Given the description of an element on the screen output the (x, y) to click on. 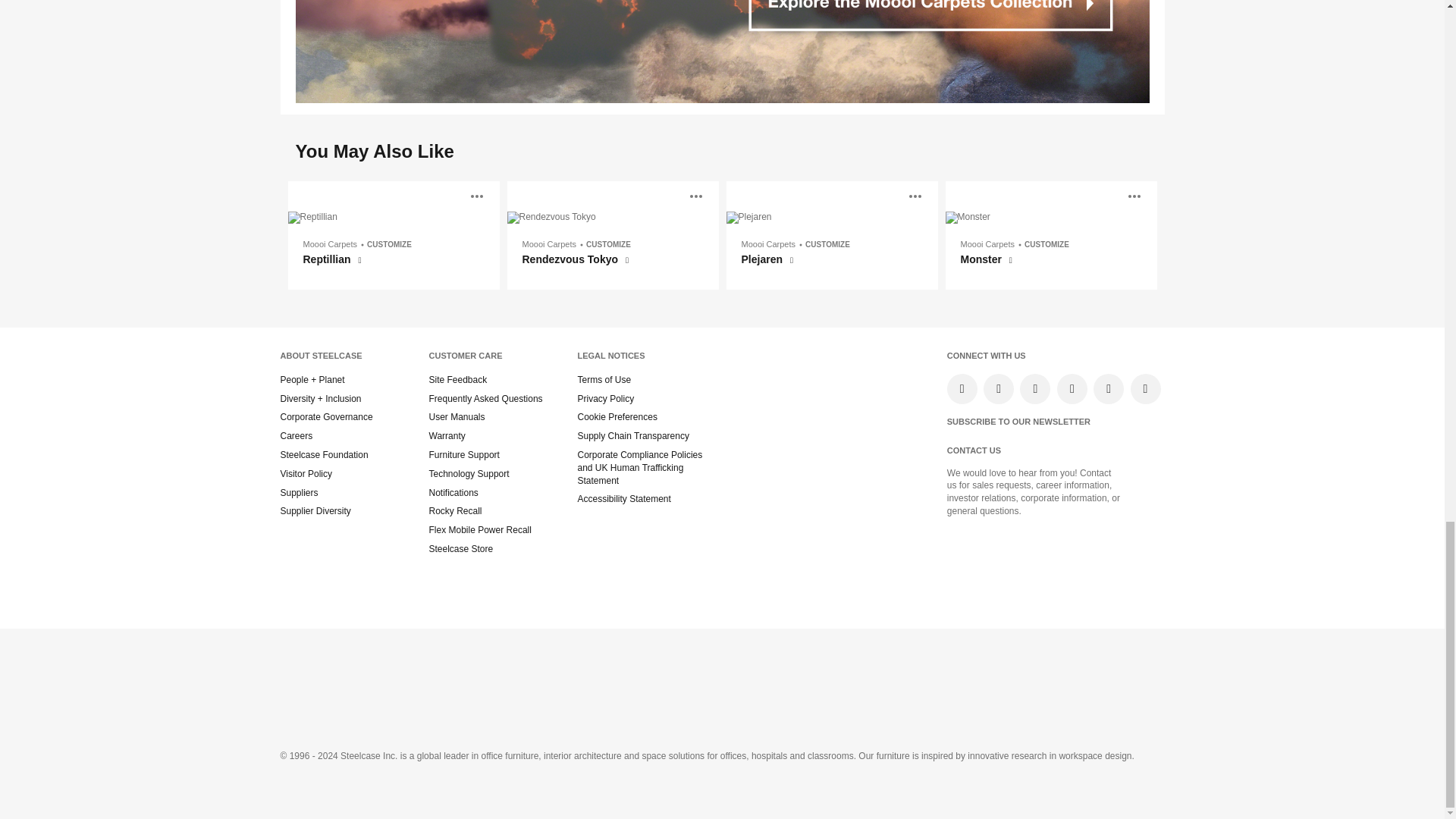
Steelcase Health Furniture (594, 670)
